Given the description of an element on the screen output the (x, y) to click on. 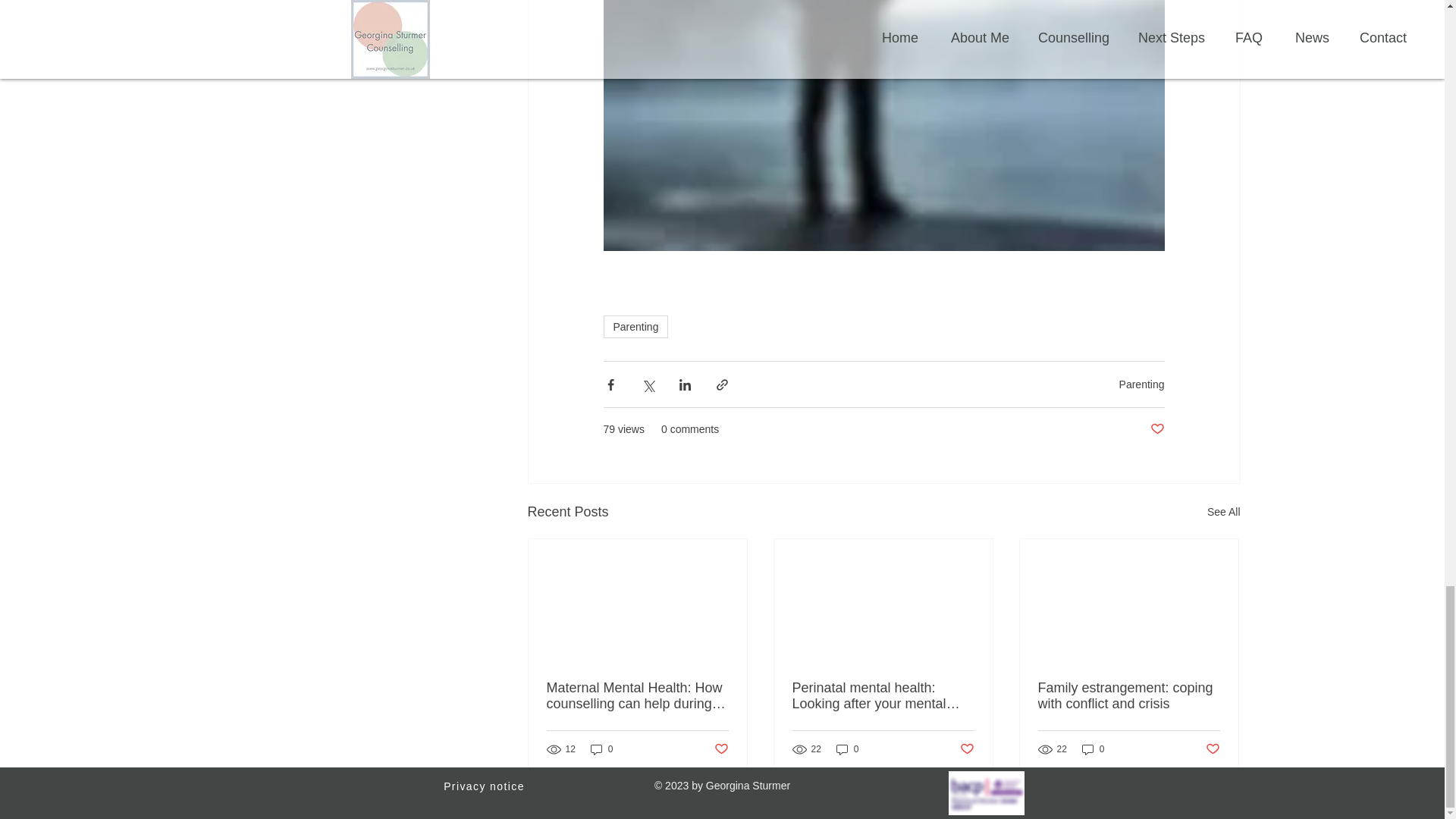
Parenting (636, 326)
Post not marked as liked (1156, 429)
Parenting (1141, 384)
Post not marked as liked (721, 749)
0 (847, 749)
0 (601, 749)
See All (1223, 512)
